Given the description of an element on the screen output the (x, y) to click on. 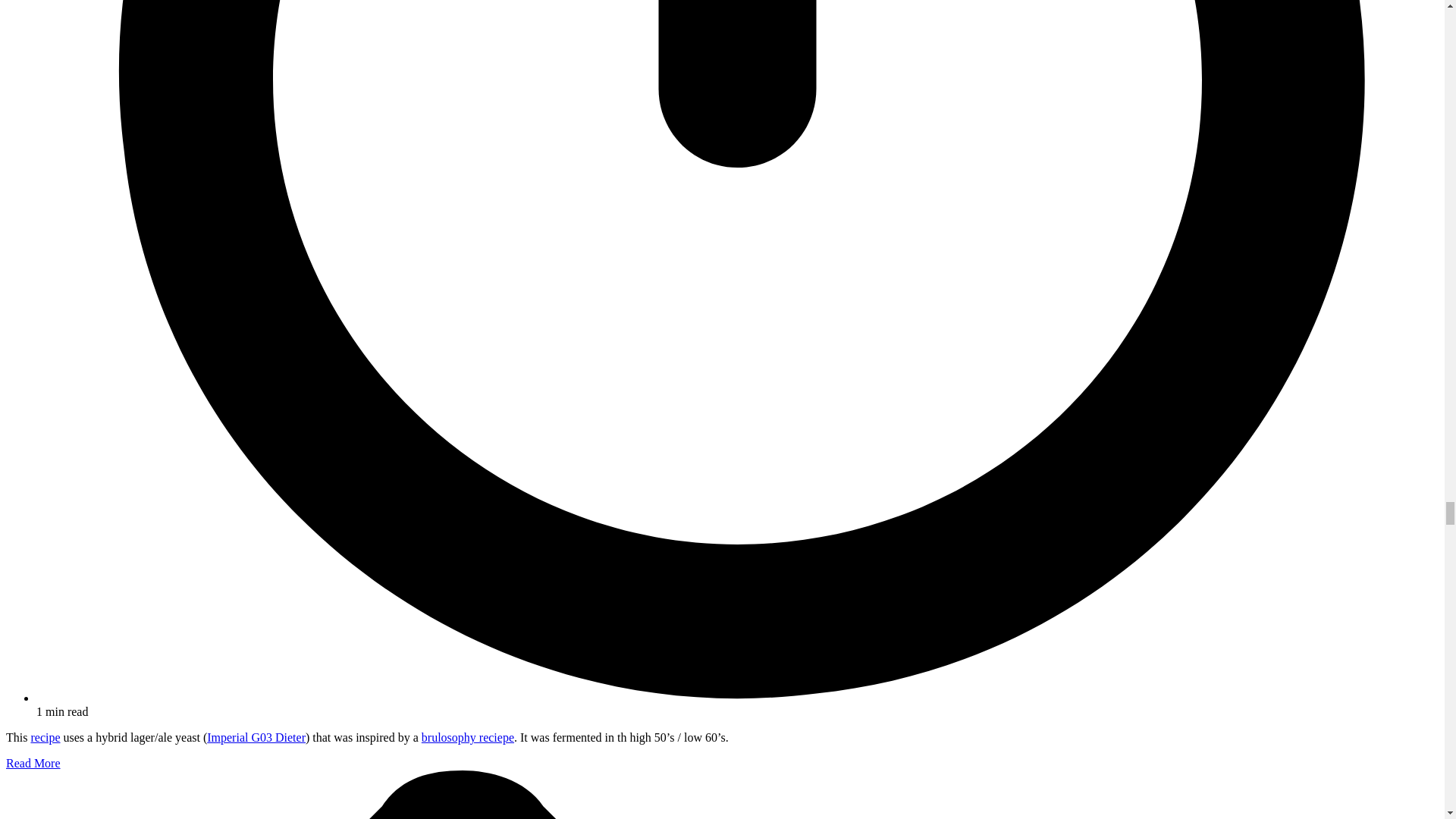
Imperial G03 Dieter (255, 737)
recipe (44, 737)
brulosophy reciepe (467, 737)
